Given the description of an element on the screen output the (x, y) to click on. 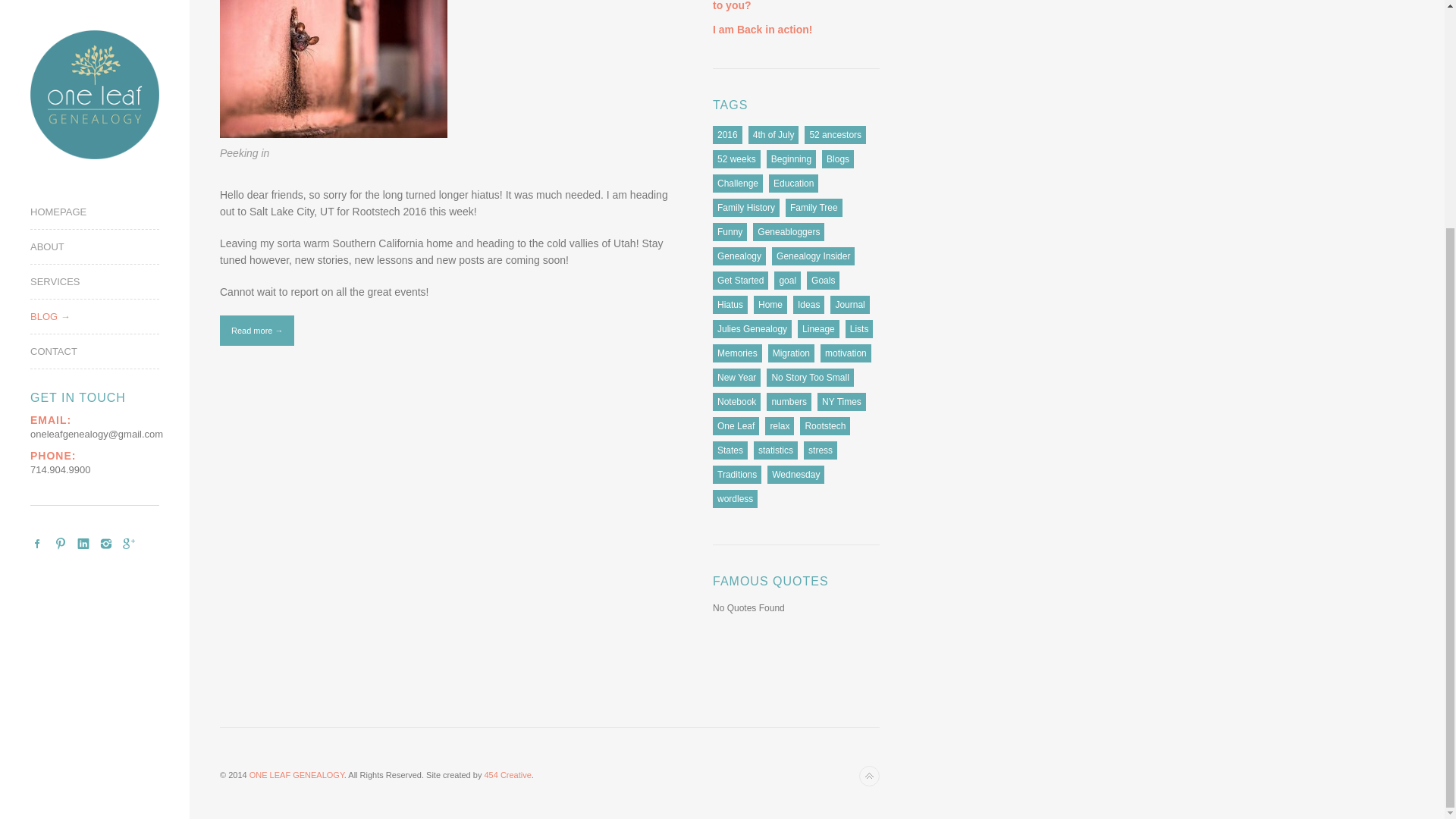
CONTACT (109, 44)
1 topic (793, 183)
Hiatus (730, 304)
2 topics (737, 183)
LinkedIn (82, 236)
Family History (745, 208)
Read more (256, 330)
52 ancestors (835, 135)
1 topic (736, 158)
LINKEDIN (82, 236)
